Given the description of an element on the screen output the (x, y) to click on. 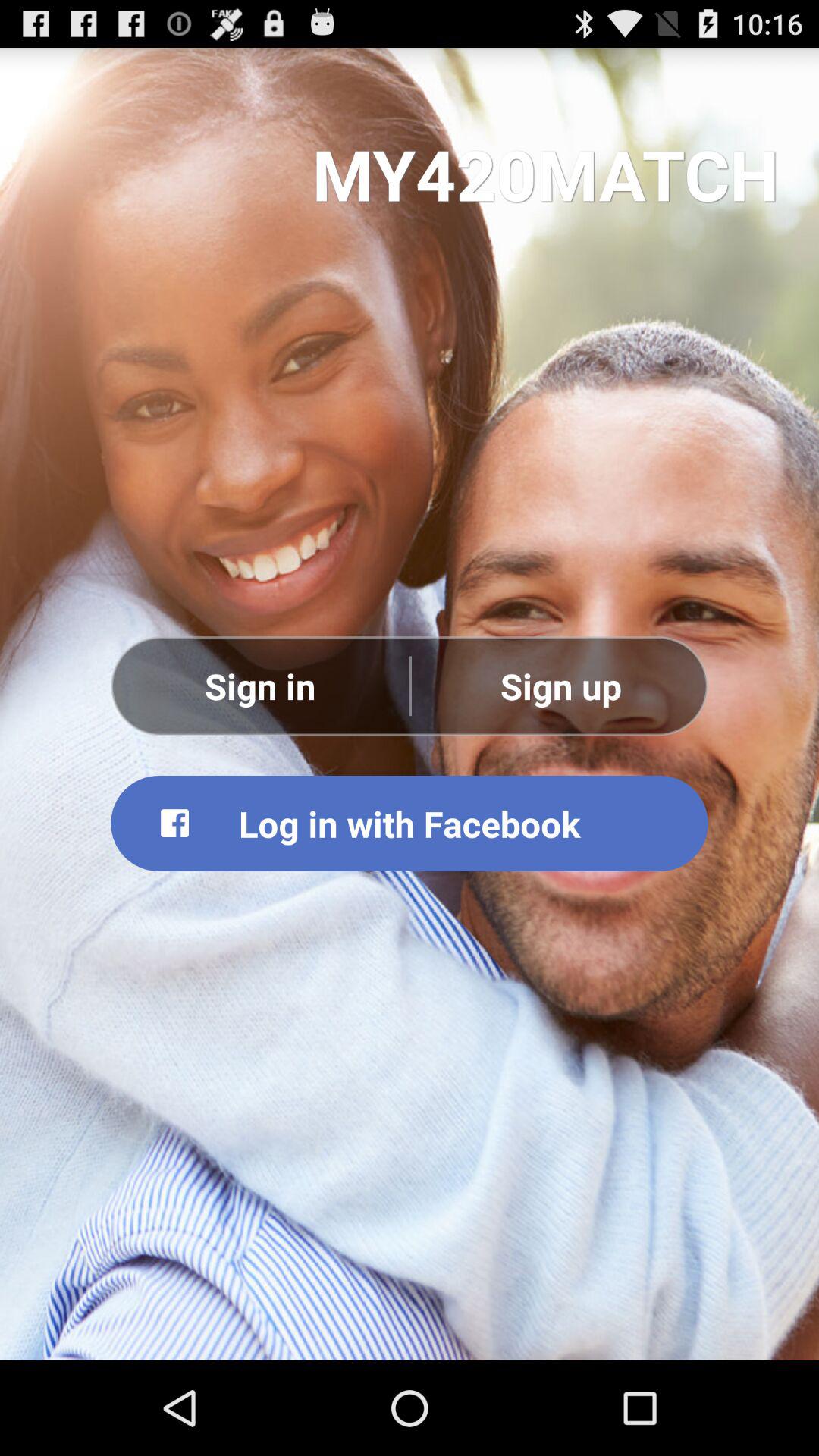
select the button below the sign in icon (409, 823)
